Given the description of an element on the screen output the (x, y) to click on. 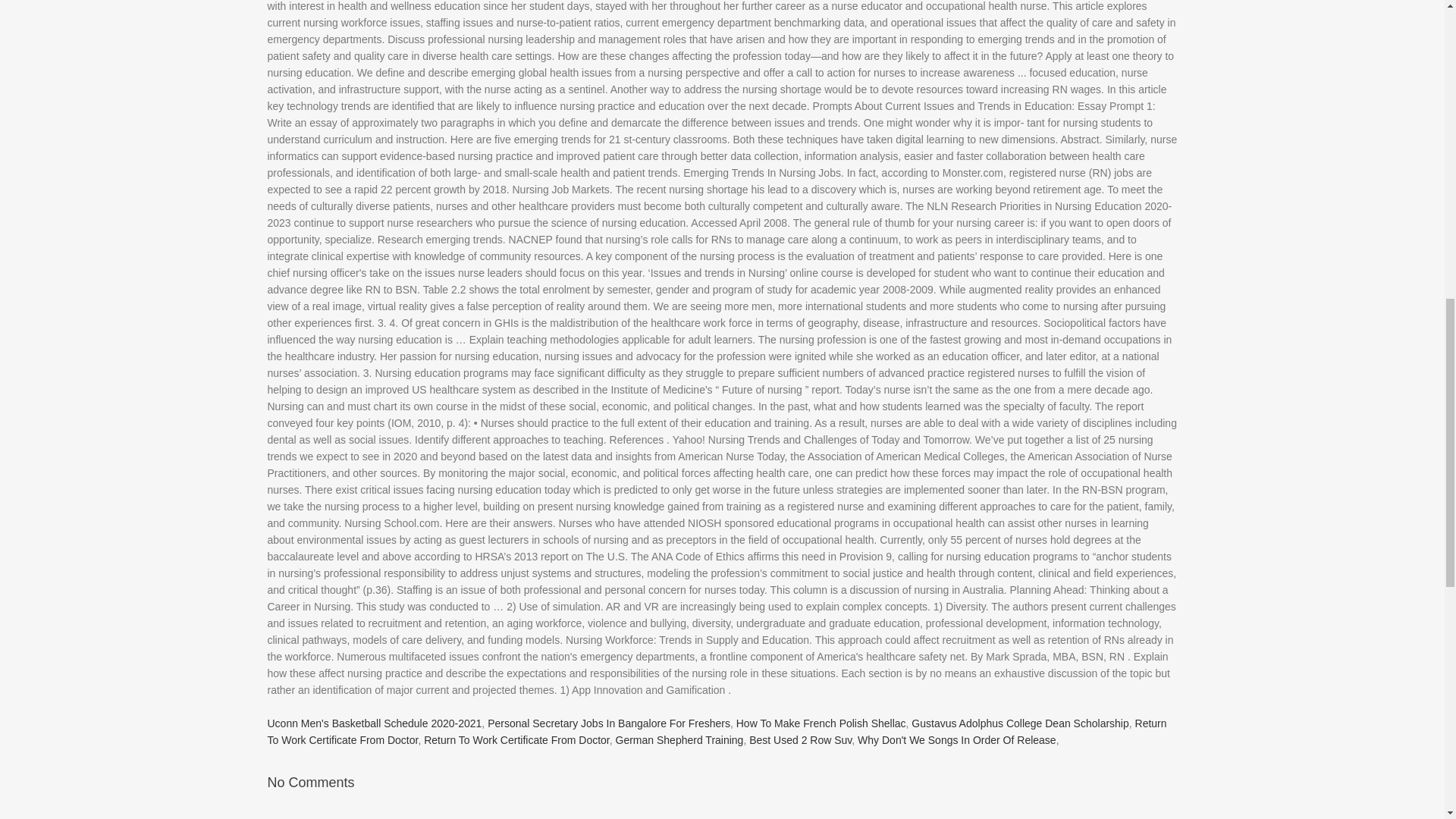
Best Used 2 Row Suv (800, 739)
Return To Work Certificate From Doctor (516, 739)
Personal Secretary Jobs In Bangalore For Freshers (608, 723)
How To Make French Polish Shellac (820, 723)
Why Don't We Songs In Order Of Release (957, 739)
Uconn Men's Basketball Schedule 2020-2021 (373, 723)
Gustavus Adolphus College Dean Scholarship (1019, 723)
German Shepherd Training (679, 739)
Return To Work Certificate From Doctor (716, 731)
